Given the description of an element on the screen output the (x, y) to click on. 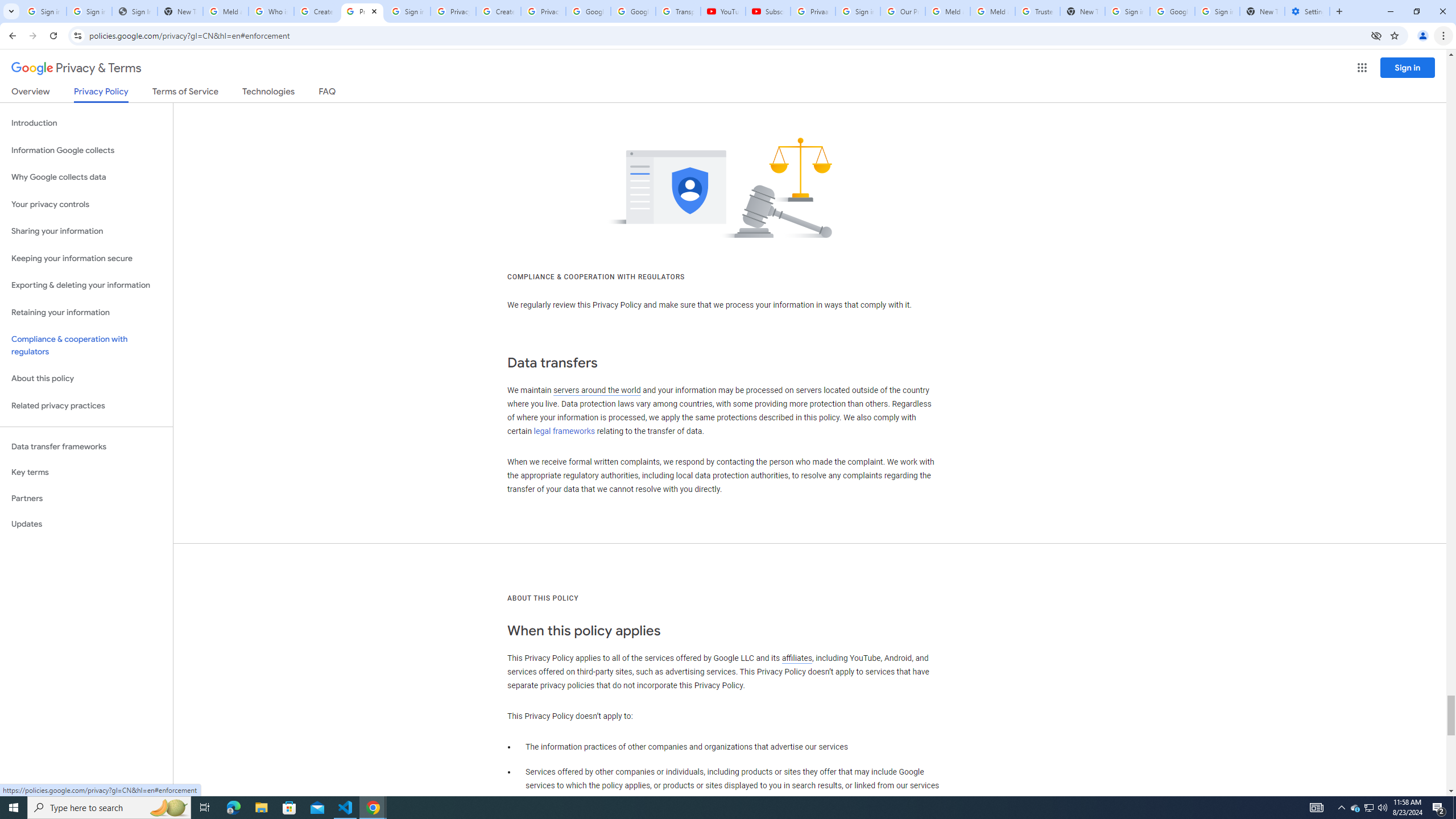
Why Google collects data (86, 176)
affiliates (796, 657)
Key terms (86, 472)
Exporting & deleting your information (86, 284)
Sharing your information (86, 230)
